Given the description of an element on the screen output the (x, y) to click on. 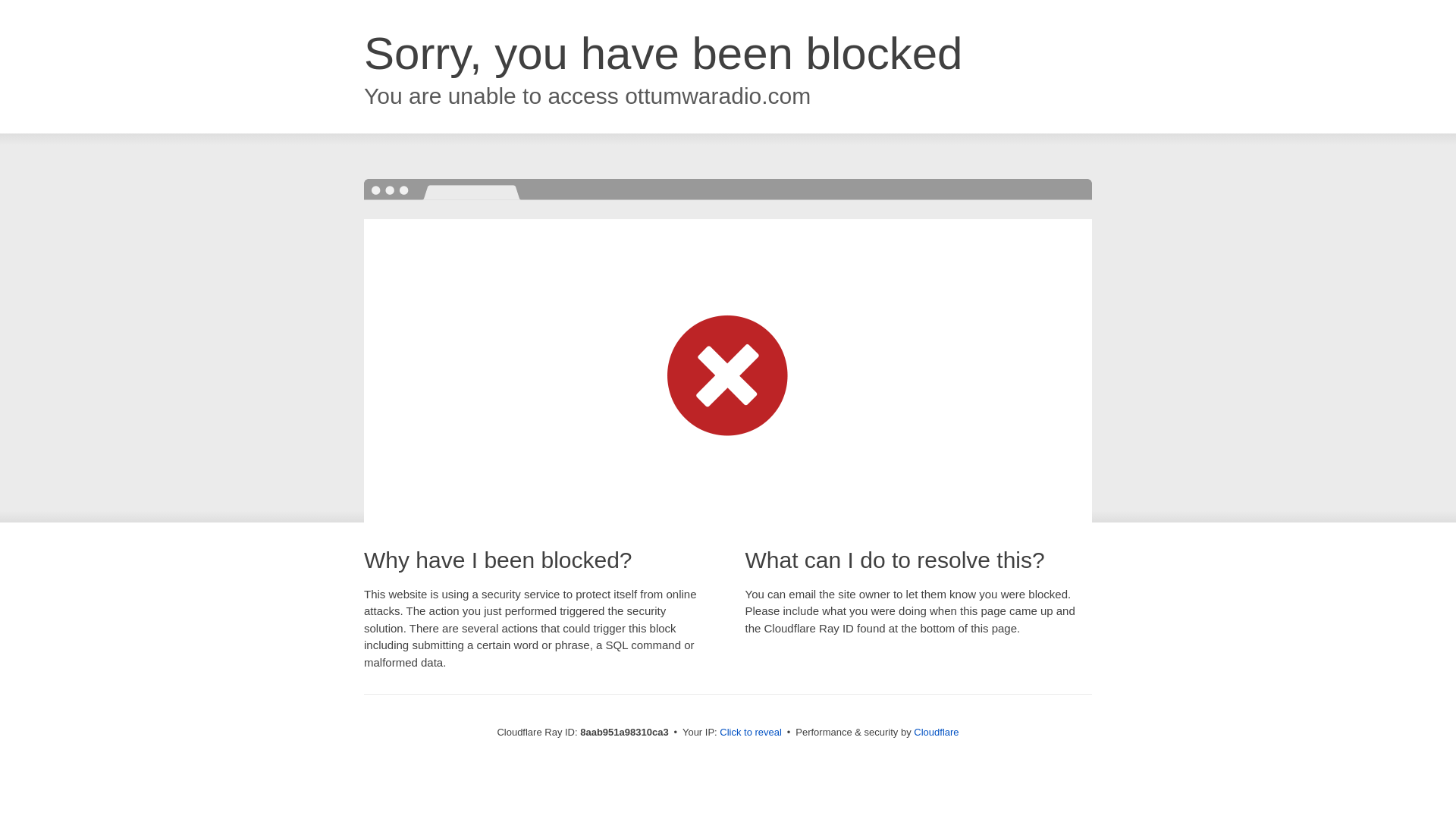
Cloudflare (936, 731)
Click to reveal (750, 732)
